Given the description of an element on the screen output the (x, y) to click on. 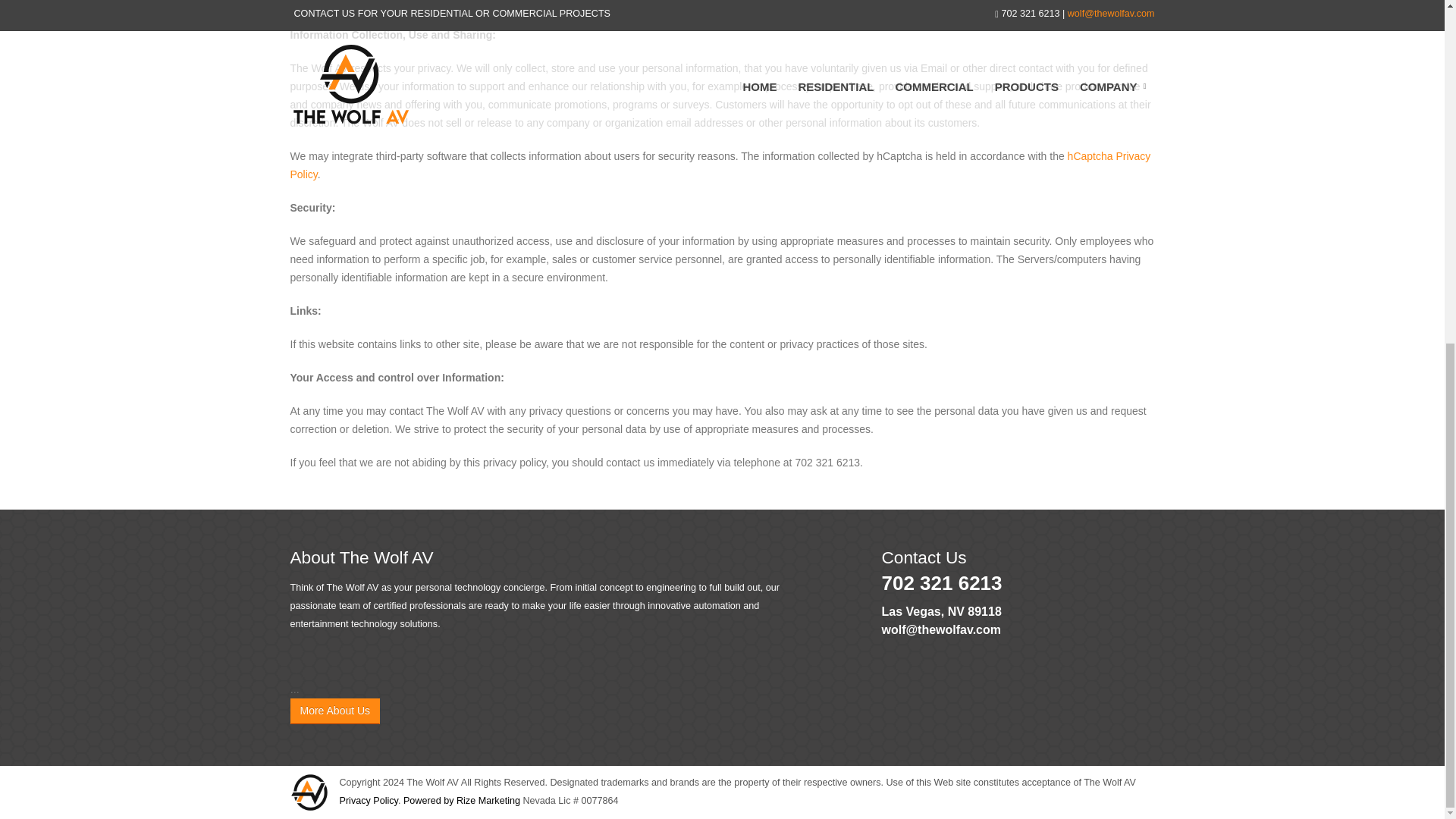
Rize Marketing (461, 800)
Powered by Rize Marketing (461, 800)
Privacy Policy (368, 800)
More About Us (334, 710)
hCaptcha Privacy Policy (719, 164)
